Given the description of an element on the screen output the (x, y) to click on. 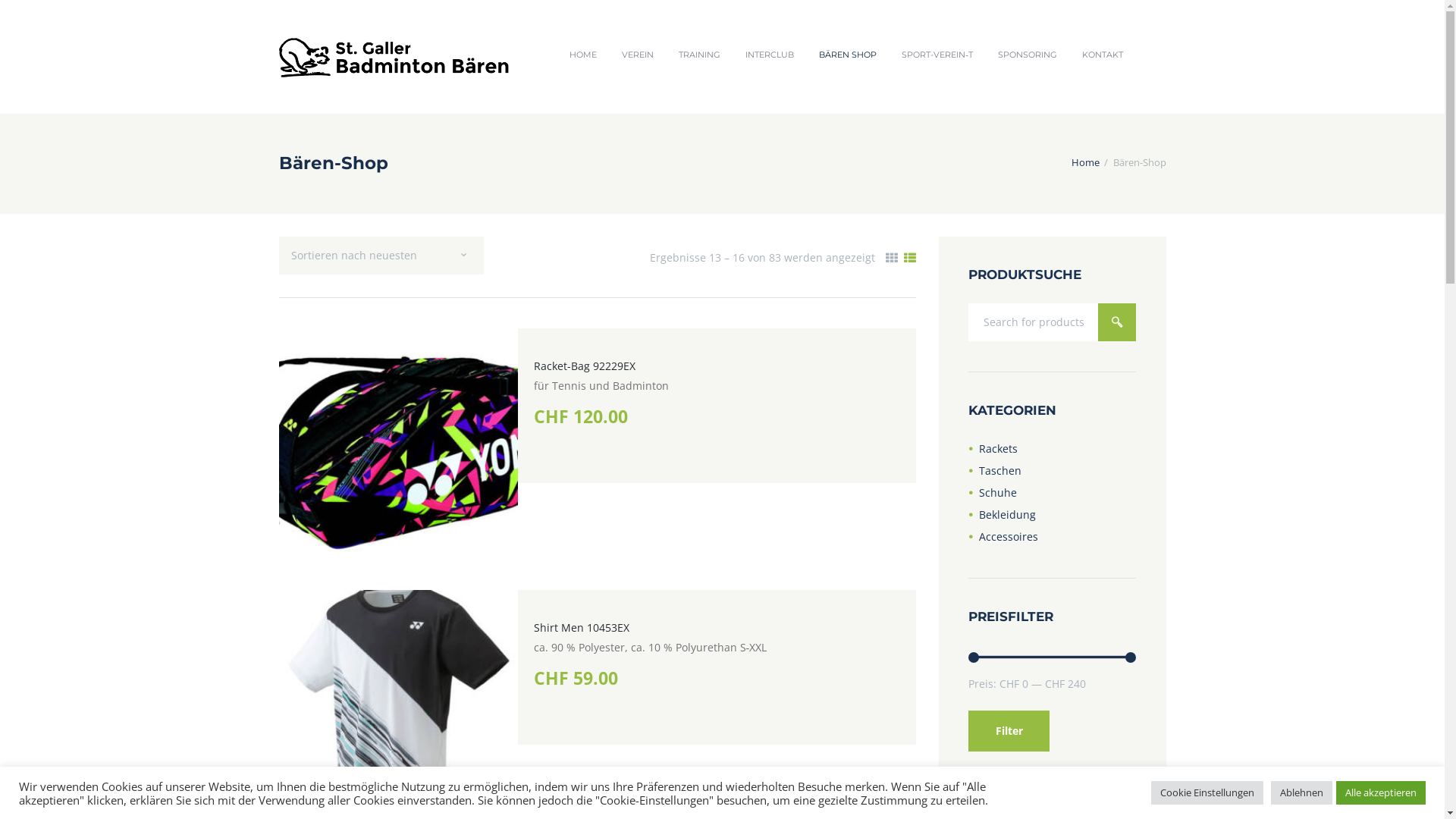
Show products as thumbs Element type: hover (891, 257)
INTERCLUB Element type: text (769, 54)
KONTAKT Element type: text (1102, 54)
TRAINING Element type: text (699, 54)
Taschen Element type: text (1000, 470)
Ablehnen Element type: text (1301, 792)
Racket-Bag 92229EX Element type: text (584, 365)
Search for products: Element type: hover (1051, 322)
Filter Element type: text (1008, 731)
Alle akzeptieren Element type: text (1380, 792)
HOME Element type: text (583, 54)
Bekleidung Element type: text (1007, 514)
Accessoires Element type: text (1008, 536)
SPONSORING Element type: text (1027, 54)
VEREIN Element type: text (637, 54)
Schuhe Element type: text (997, 492)
Shirt Men 10453EX Element type: text (581, 627)
Cookie Einstellungen Element type: text (1207, 792)
Home Element type: text (1084, 162)
Rackets Element type: text (998, 448)
Show products as list Element type: hover (909, 257)
